Given the description of an element on the screen output the (x, y) to click on. 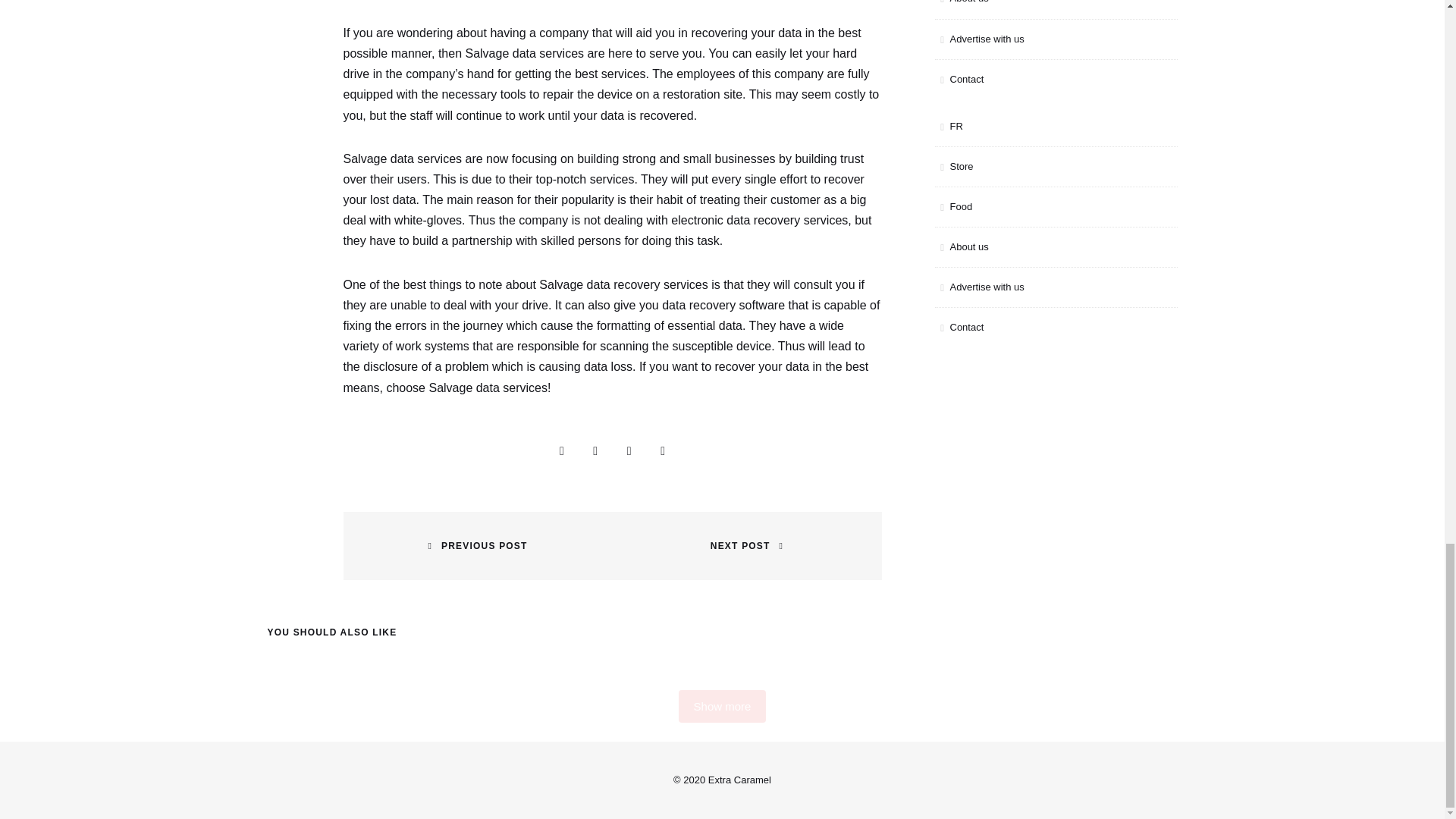
Facebook (594, 450)
Pinterest (662, 450)
Twitter (629, 450)
